Given the description of an element on the screen output the (x, y) to click on. 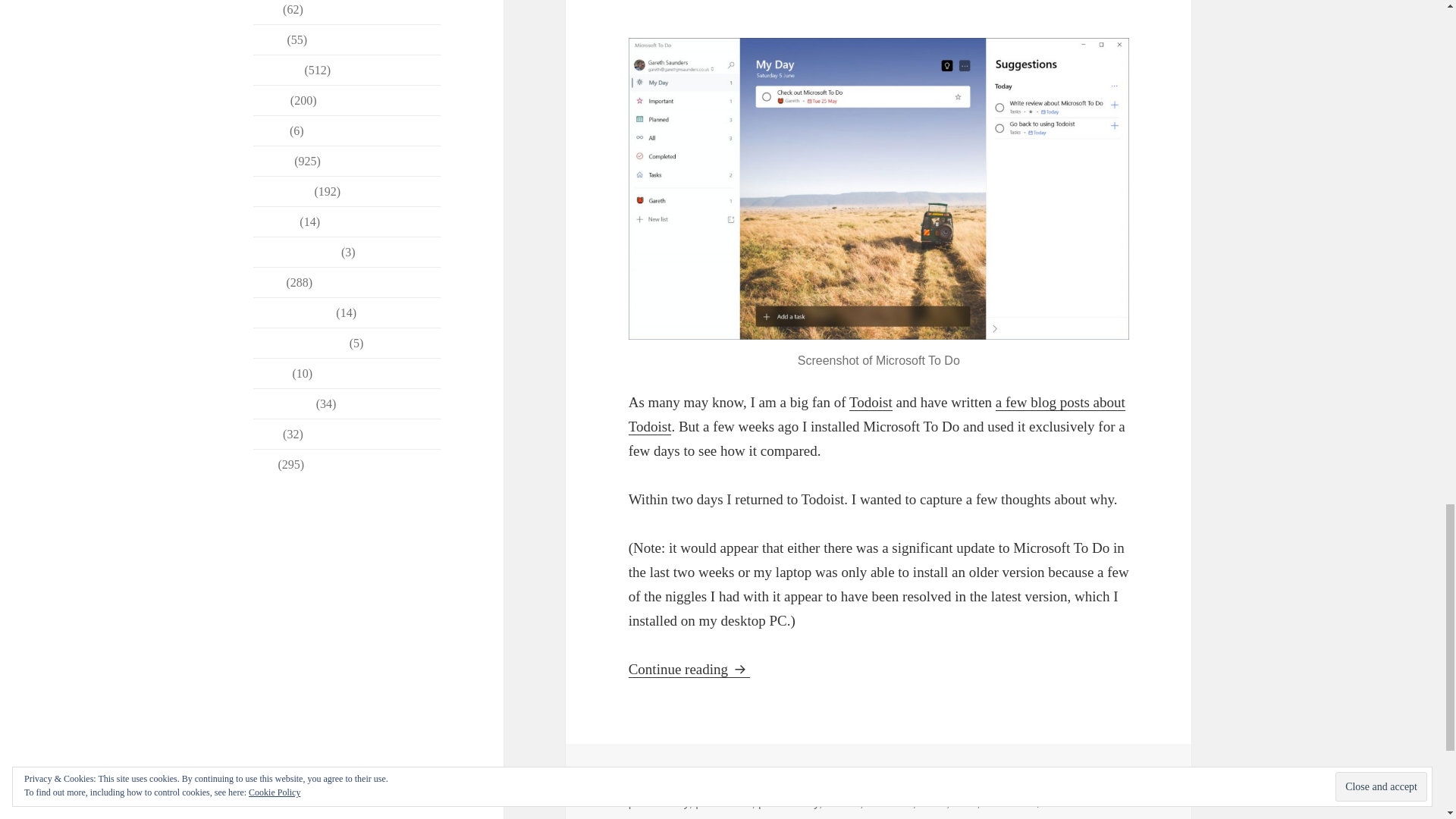
Agile (267, 9)
Politics (271, 373)
Photon Connection (299, 342)
Games (269, 130)
General (272, 160)
Music (268, 282)
God Project (282, 191)
Microsoft Money (295, 251)
Family (269, 100)
Books (268, 39)
Mahjong (275, 221)
Computer (277, 69)
